Given the description of an element on the screen output the (x, y) to click on. 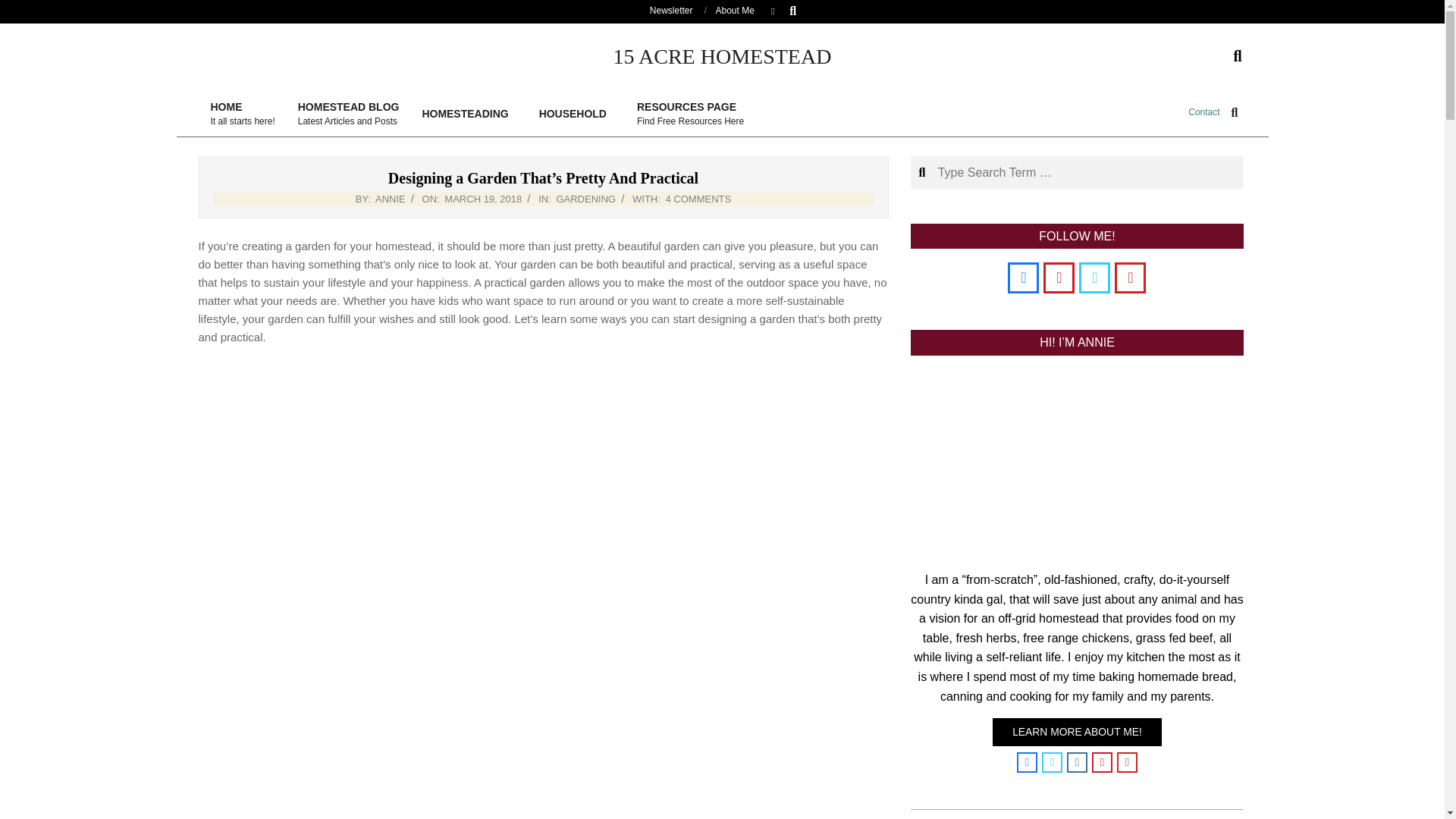
About Me (735, 9)
Contact (1204, 112)
Newsletter (671, 9)
4 COMMENTS (698, 198)
ANNIE (390, 198)
Search (21, 8)
HOMESTEADING (241, 113)
Posts by Annie (468, 113)
15 ACRE HOMESTEAD (390, 198)
